Given the description of an element on the screen output the (x, y) to click on. 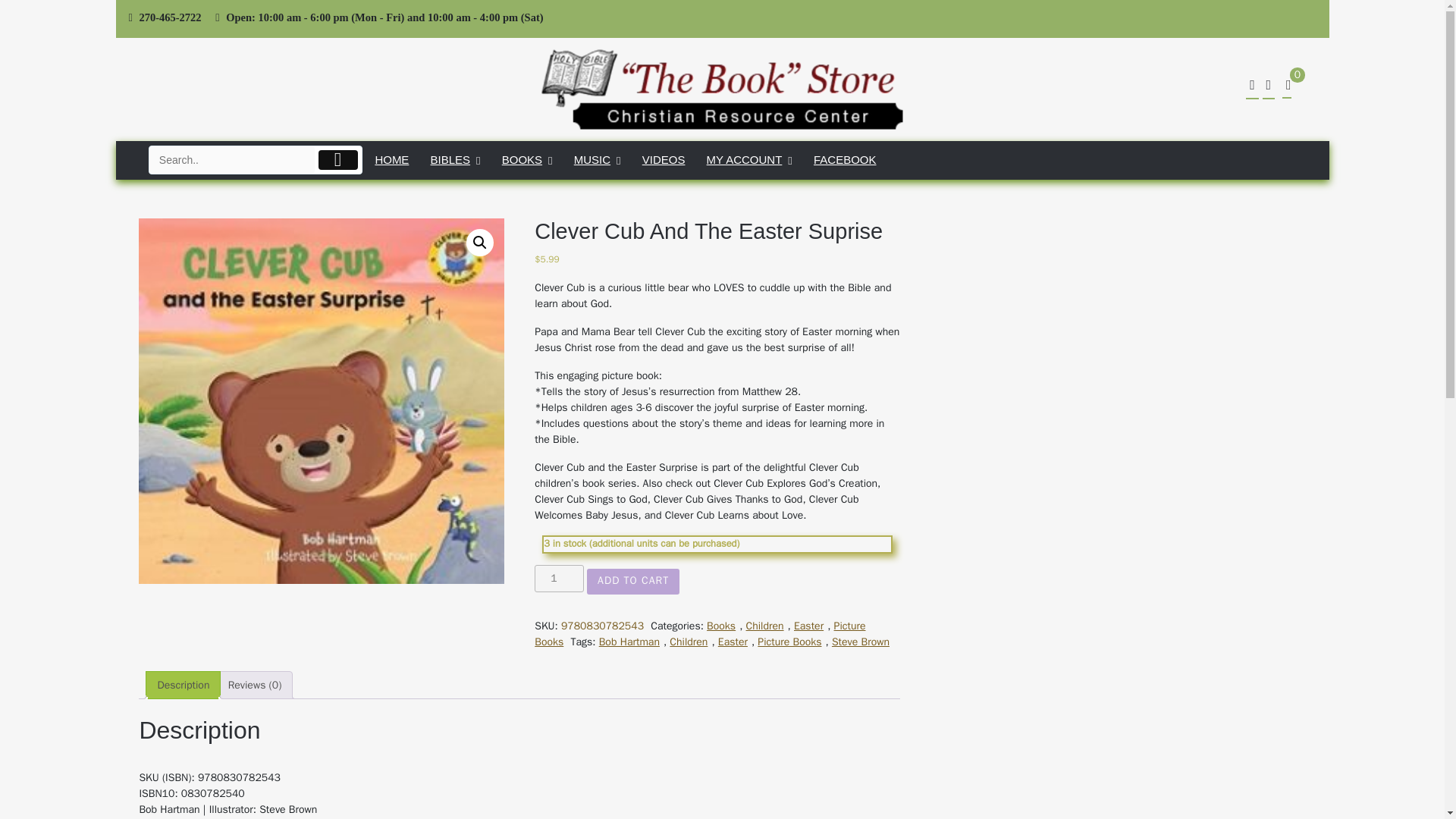
HOME (391, 159)
Search (231, 159)
BIBLES (455, 159)
9780830782543 Clever Cub And The Easter Suprise (320, 400)
MUSIC (597, 159)
BOOKS (527, 159)
1 (558, 578)
Submit (338, 159)
